Given the description of an element on the screen output the (x, y) to click on. 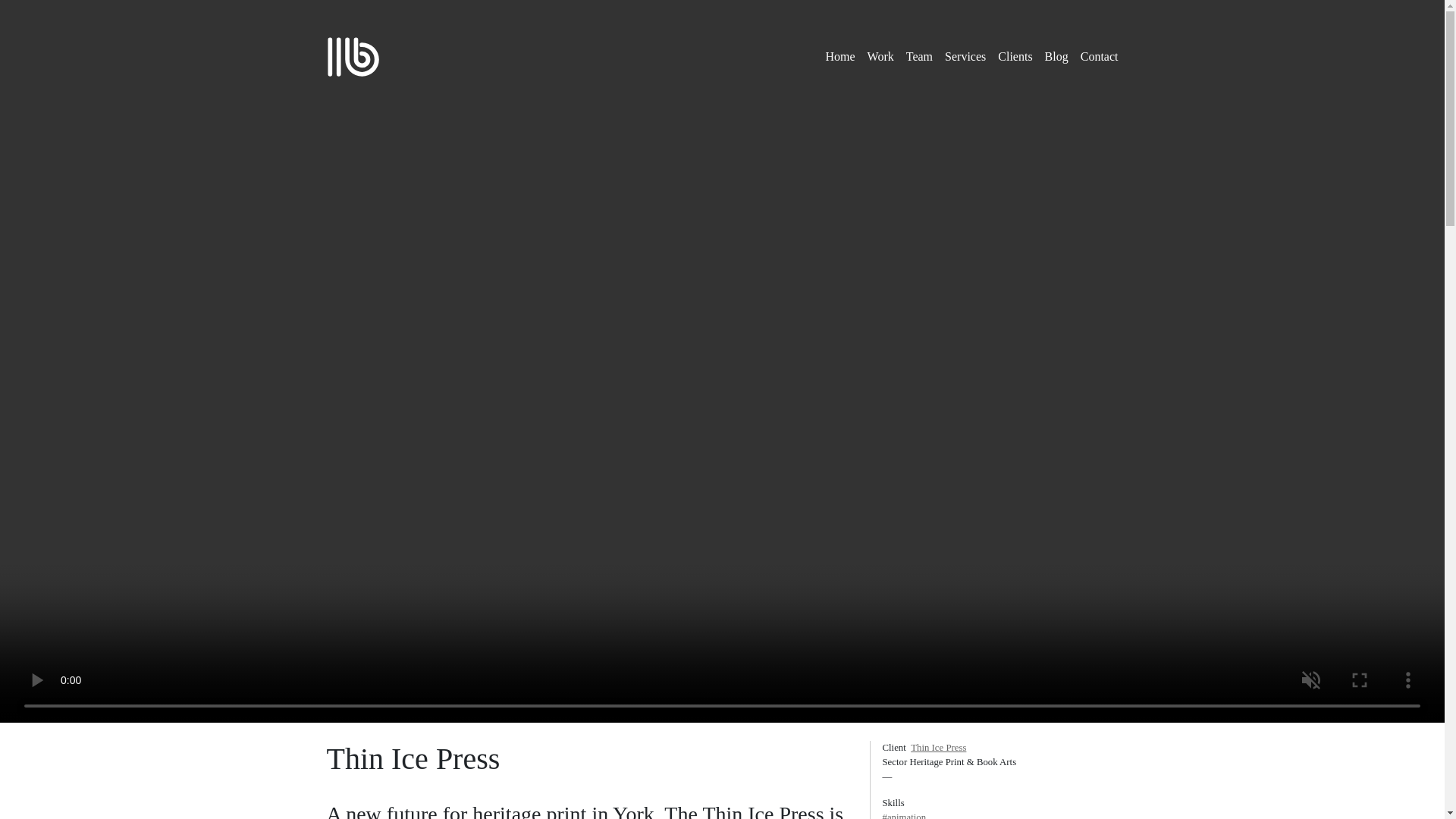
Clients (1014, 56)
Team (919, 56)
Animation (1000, 814)
LazenbyBrown Home (352, 55)
Thin Ice Press (938, 747)
Home (839, 56)
Work (880, 56)
Services (964, 56)
Clients (1014, 56)
Contact (1099, 56)
